Given the description of an element on the screen output the (x, y) to click on. 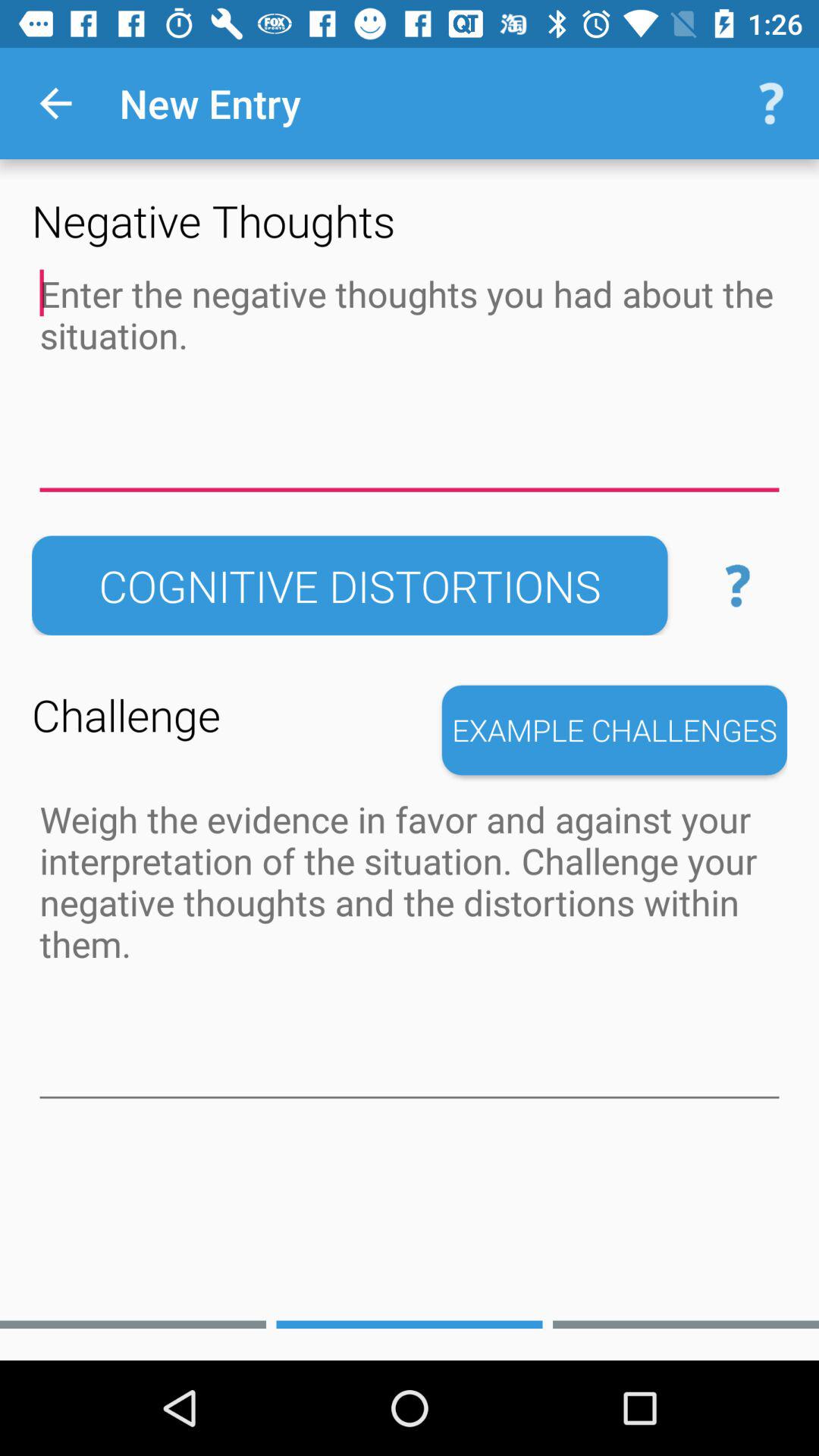
open the item above the example challenges item (737, 585)
